Given the description of an element on the screen output the (x, y) to click on. 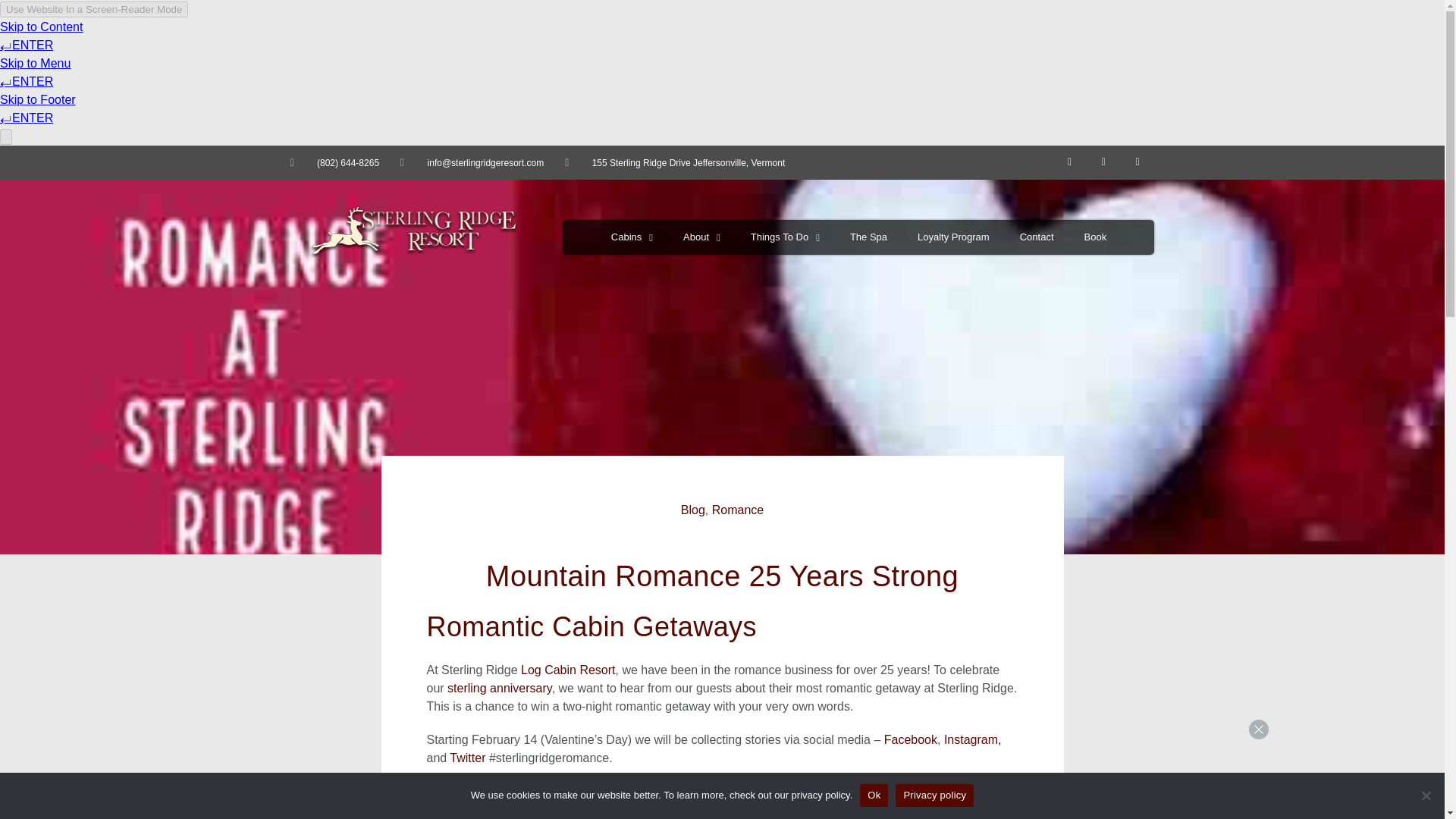
greeting (1350, 737)
launcher (1403, 790)
No (1425, 795)
155 Sterling Ridge Drive Jeffersonville, Vermont (674, 162)
Cabins (631, 237)
